Given the description of an element on the screen output the (x, y) to click on. 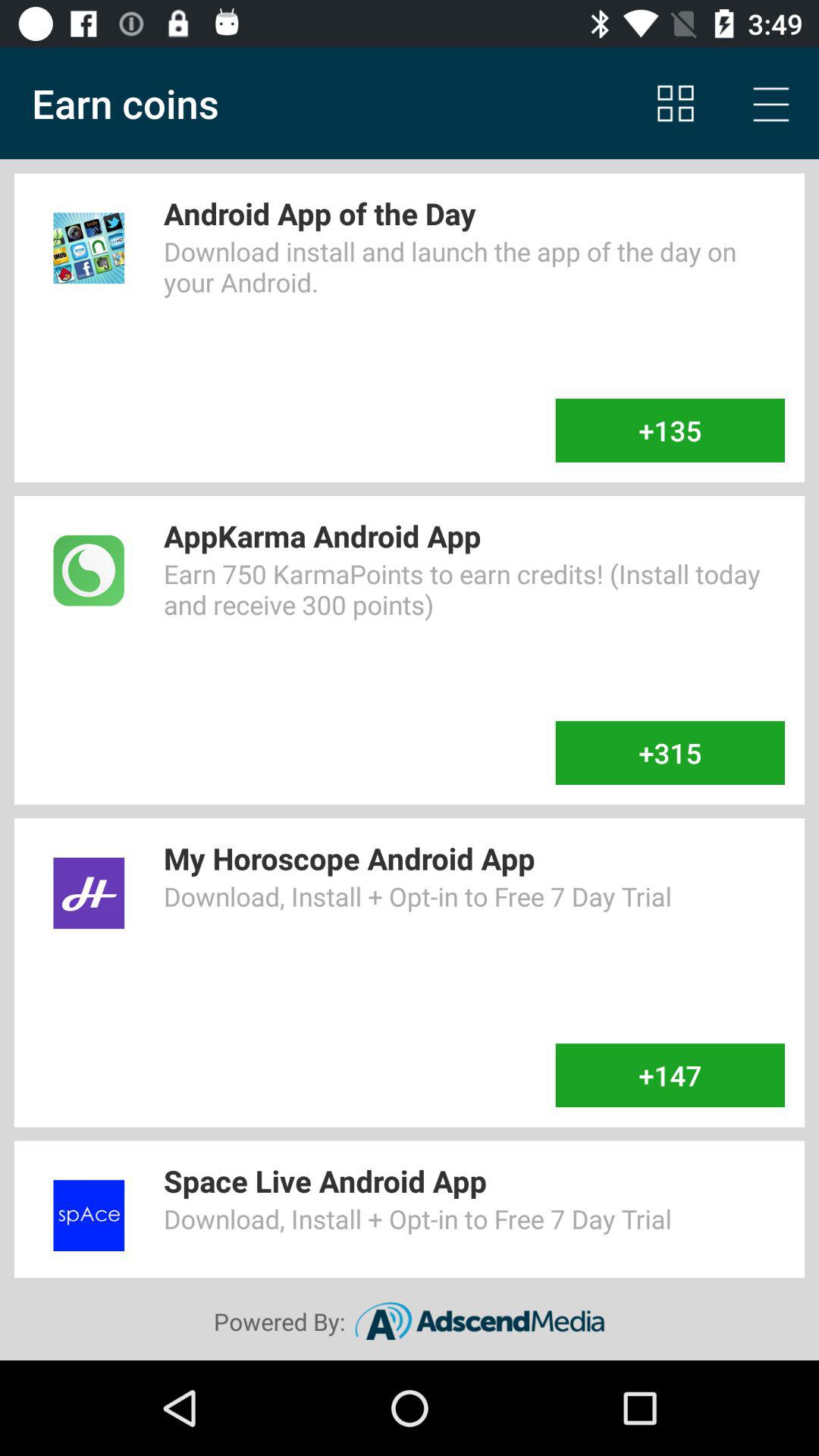
flip until +147 (669, 1075)
